Given the description of an element on the screen output the (x, y) to click on. 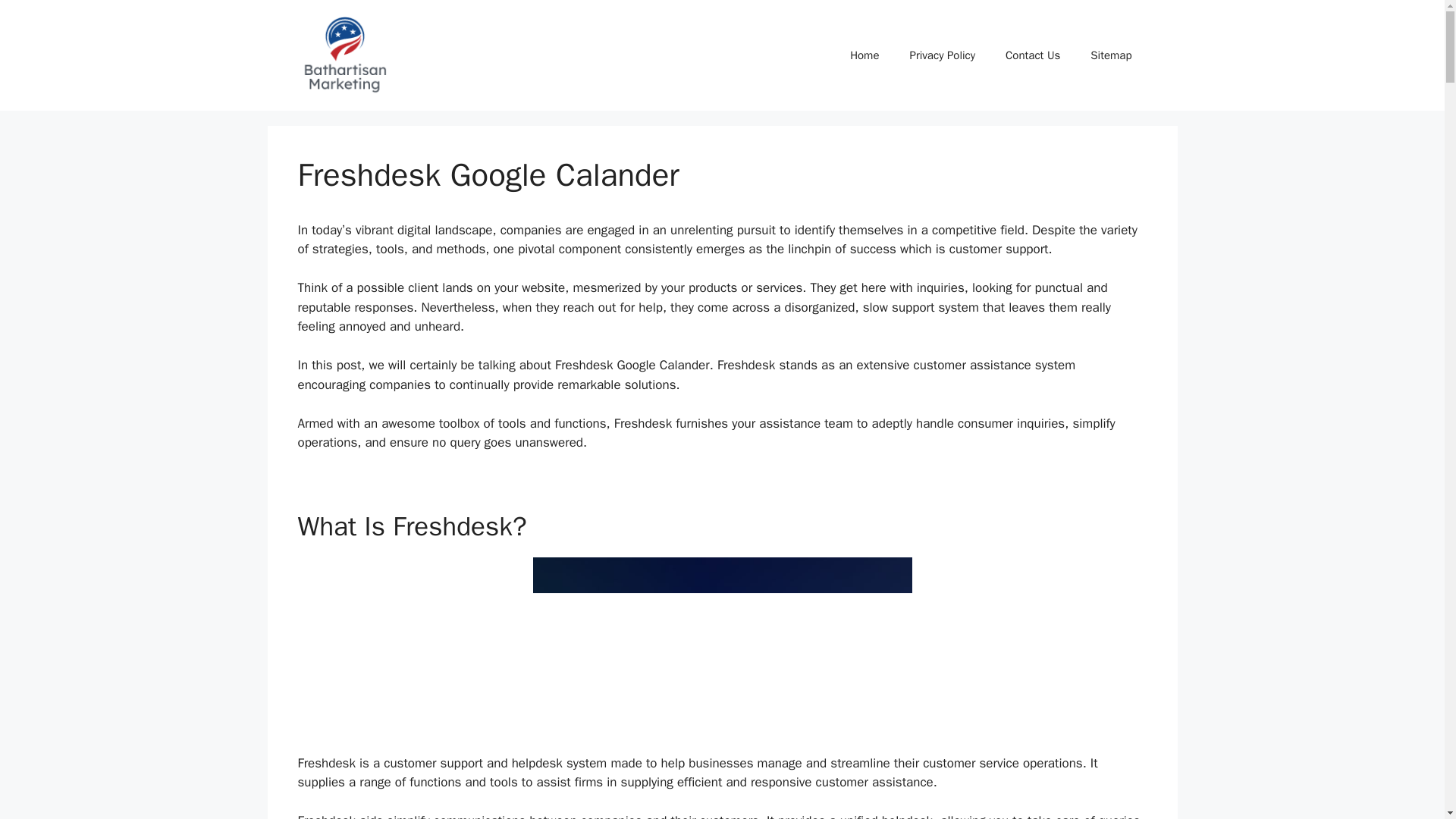
Privacy Policy (941, 54)
Contact Us (1032, 54)
Sitemap (1111, 54)
Home (863, 54)
